Given the description of an element on the screen output the (x, y) to click on. 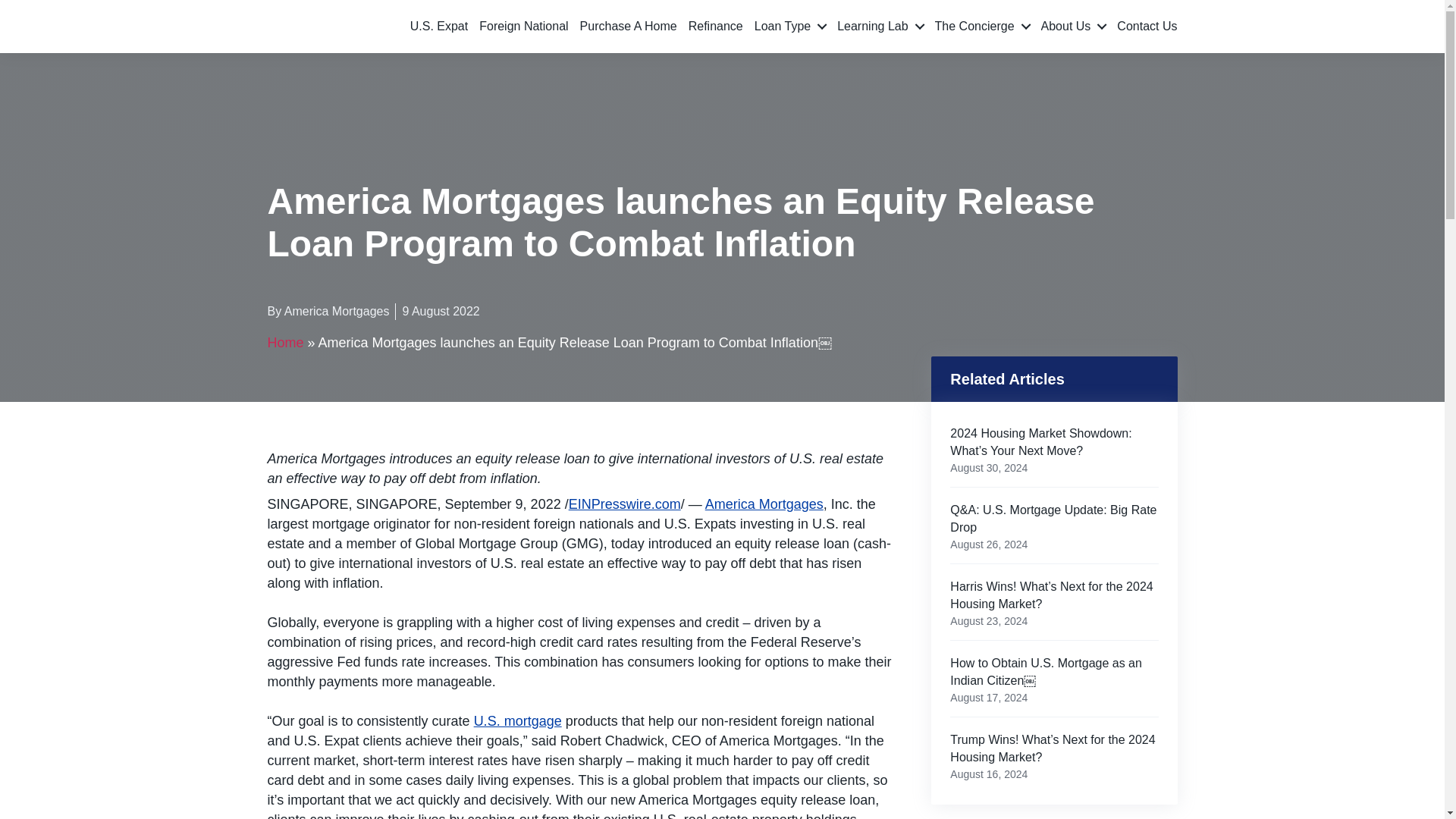
Loan Type (789, 26)
Foreign National (523, 26)
Purchase A Home (628, 26)
Refinance (715, 26)
The Concierge (981, 26)
Learning Lab (880, 26)
Purchase A Home (628, 26)
Refinance (715, 26)
Learning Lab (880, 26)
U.S. Expat (438, 26)
